Given the description of an element on the screen output the (x, y) to click on. 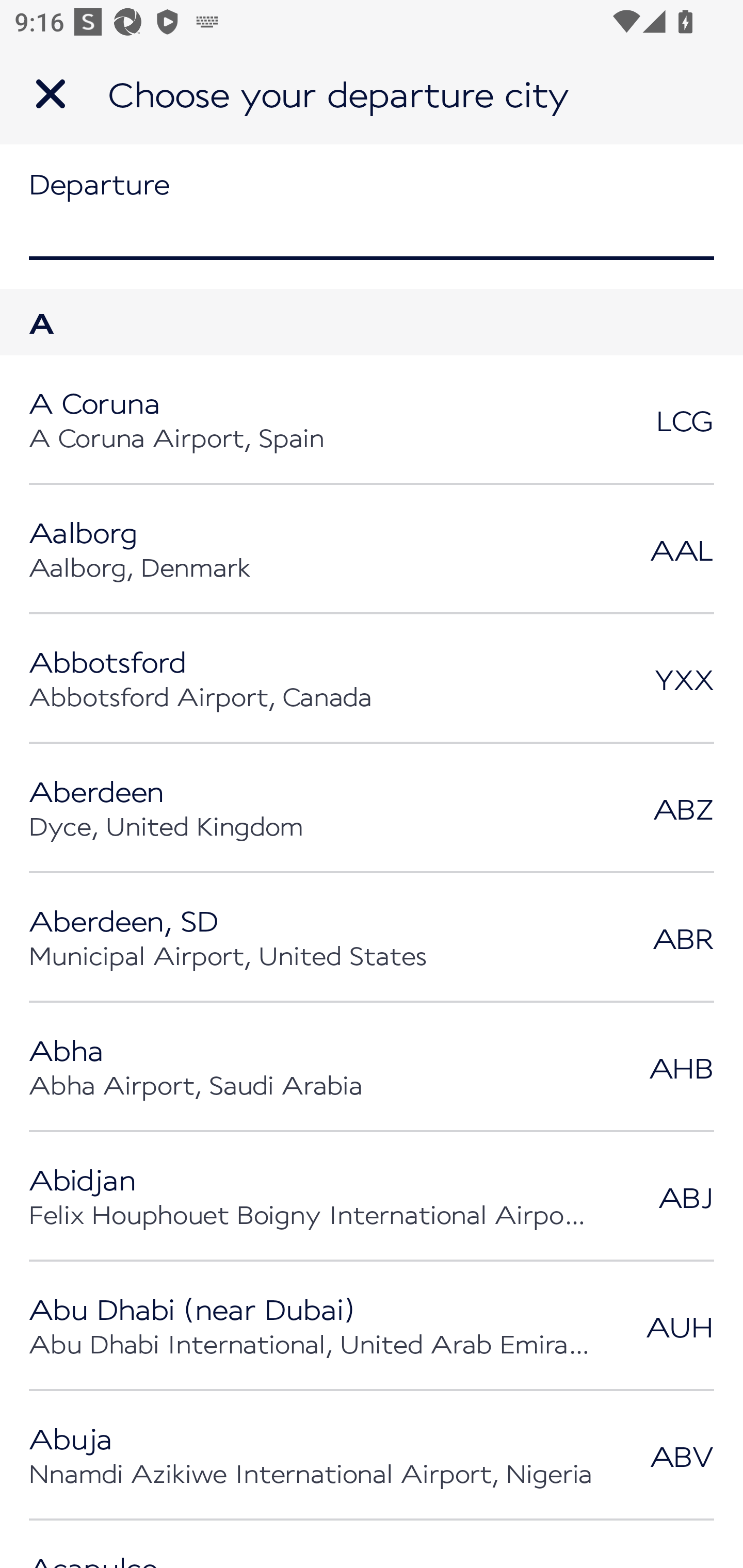
Navigate up (50, 93)
Departure (371, 216)
A Coruna A Coruna Airport, Spain LCG (371, 419)
Aalborg Aalborg, Denmark AAL (371, 549)
Abbotsford Abbotsford Airport, Canada YXX (371, 678)
Aberdeen Dyce, United Kingdom ABZ (371, 808)
Aberdeen, SD Municipal Airport, United States ABR (371, 937)
Abha Abha Airport, Saudi Arabia AHB (371, 1066)
